Given the description of an element on the screen output the (x, y) to click on. 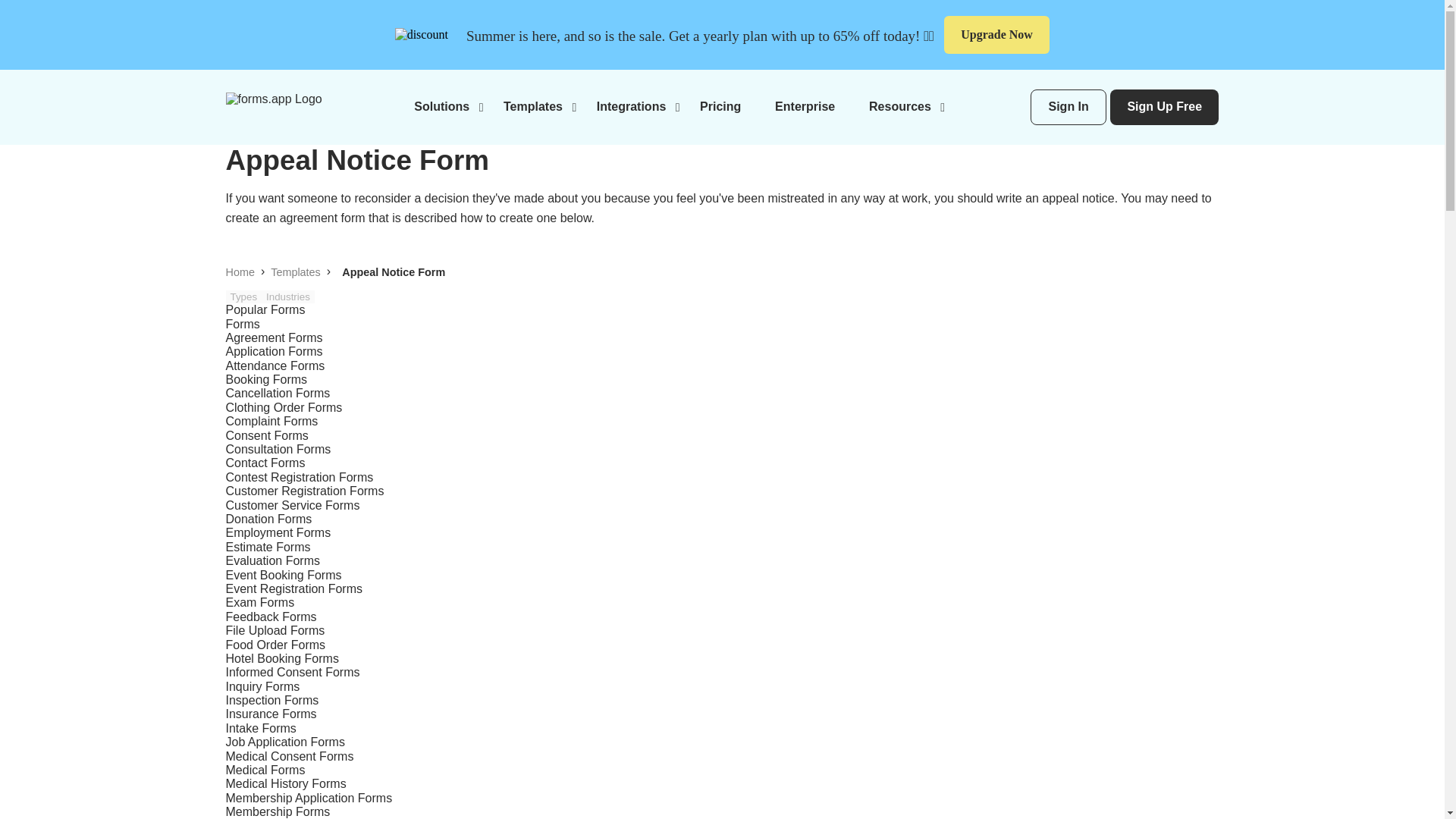
Sign Up Free (1163, 107)
Sign In (1068, 107)
Pricing (720, 106)
Enterprise (804, 106)
Upgrade Now (996, 34)
